Given the description of an element on the screen output the (x, y) to click on. 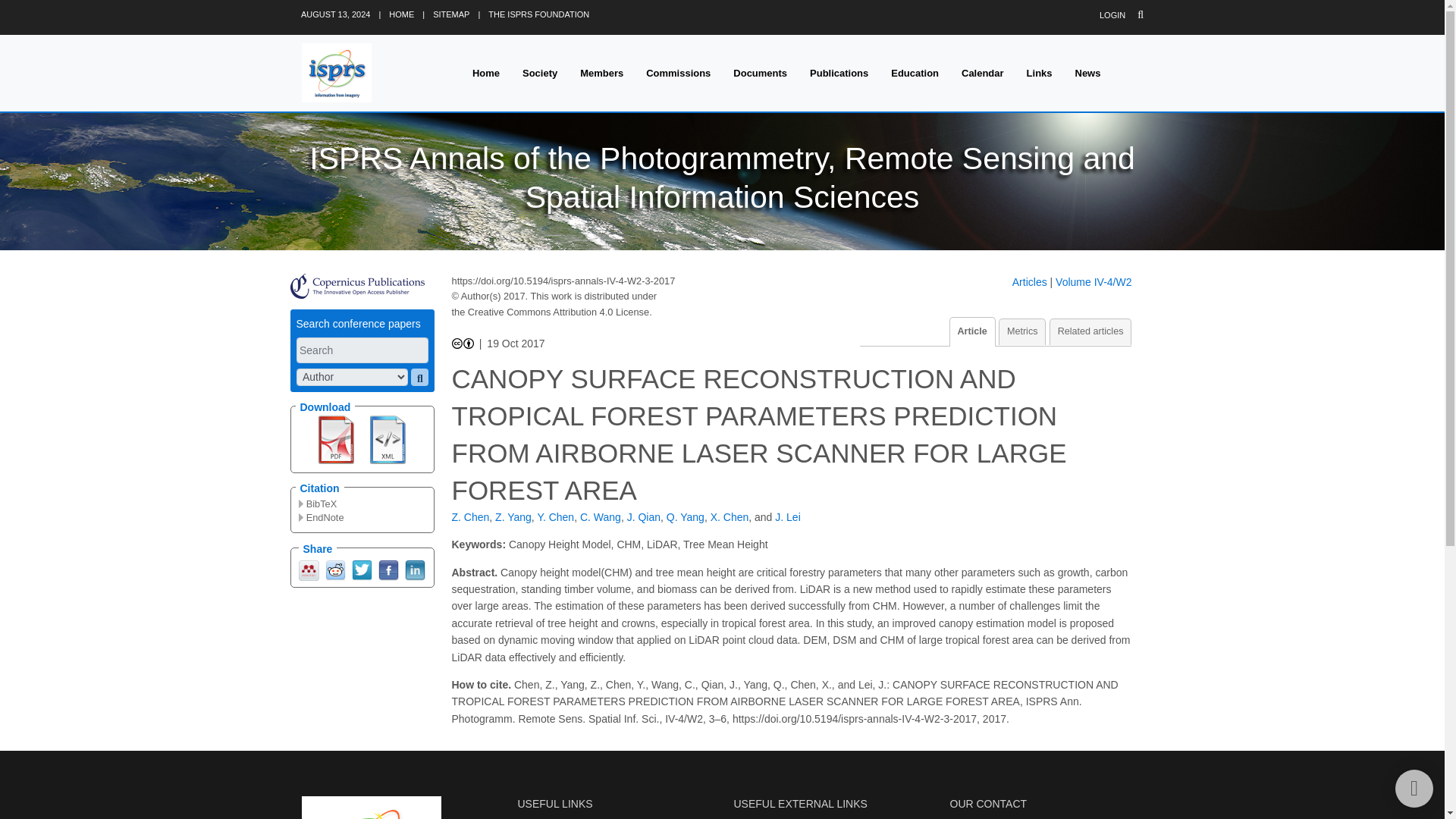
SITEMAP (450, 13)
HOME (400, 13)
Society (539, 73)
Home (485, 73)
LOGIN (1112, 14)
THE ISPRS FOUNDATION (538, 13)
